Given the description of an element on the screen output the (x, y) to click on. 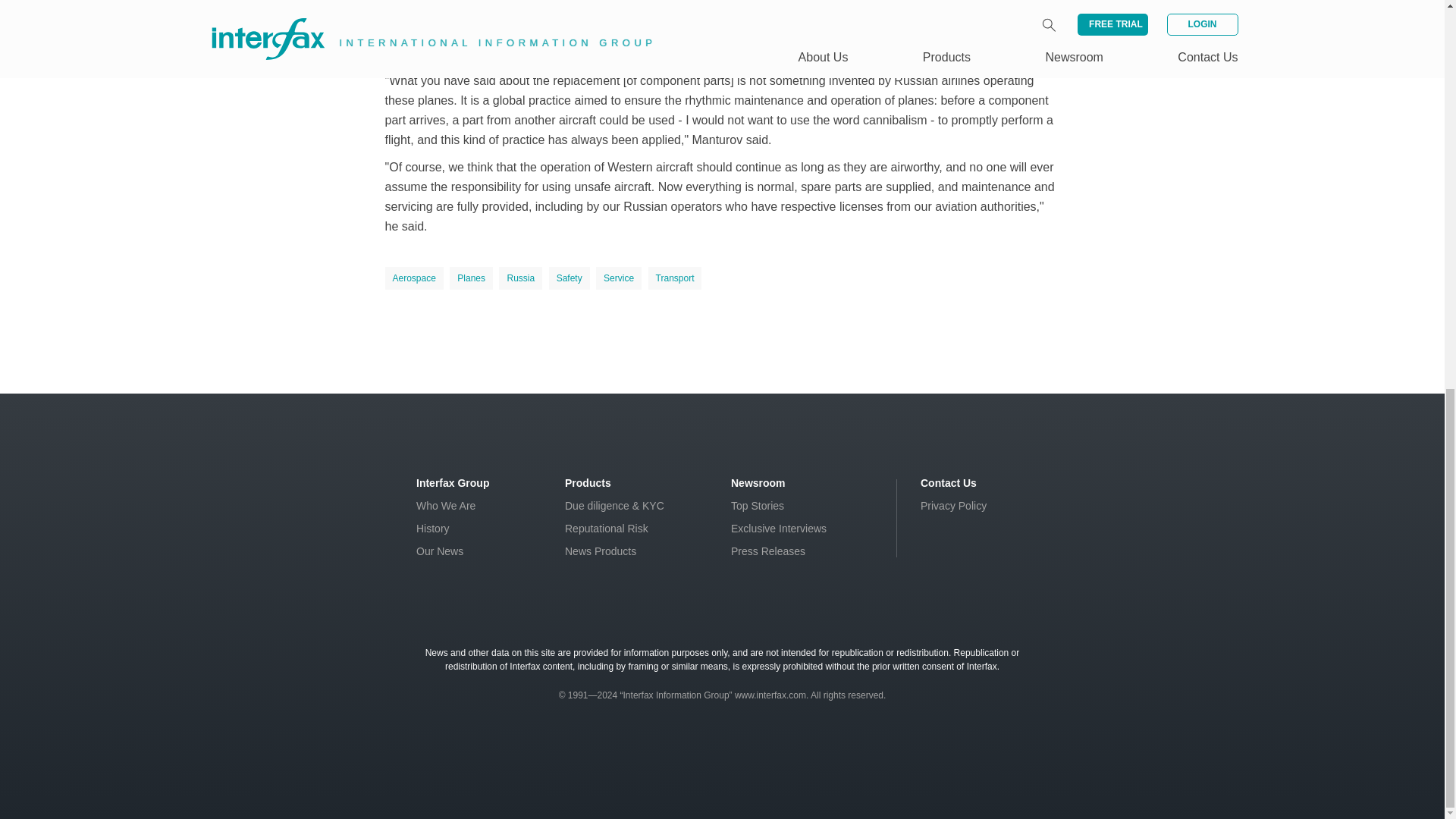
Russia (520, 277)
Planes (471, 277)
Aerospace (414, 277)
Safety (568, 277)
